Given the description of an element on the screen output the (x, y) to click on. 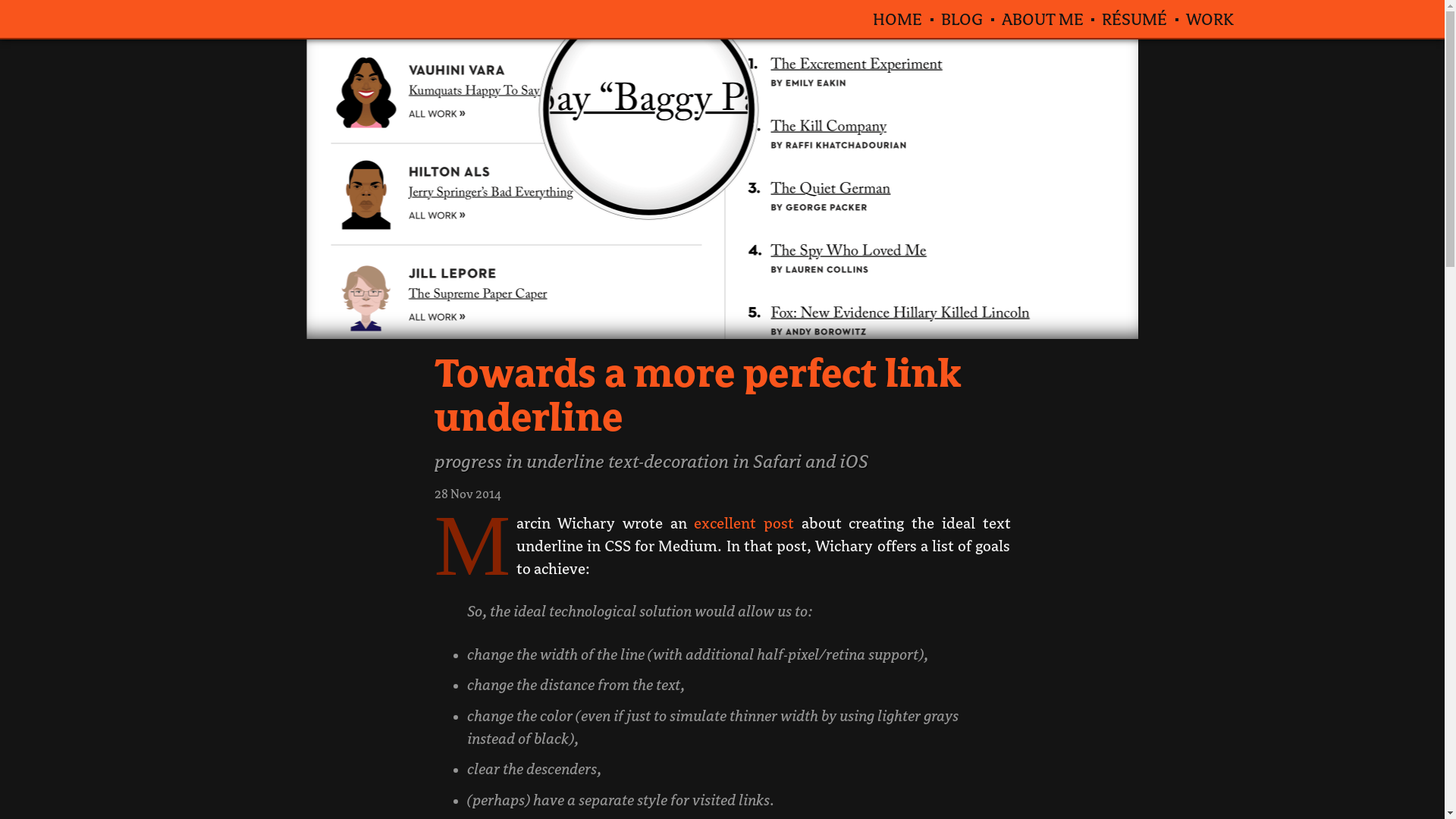
WORK Element type: text (1209, 18)
excellent post Element type: text (743, 523)
ABOUT ME Element type: text (1042, 18)
Towards a more perfect link underline Element type: text (696, 395)
BLOG Element type: text (961, 18)
HOME Element type: text (897, 18)
